Given the description of an element on the screen output the (x, y) to click on. 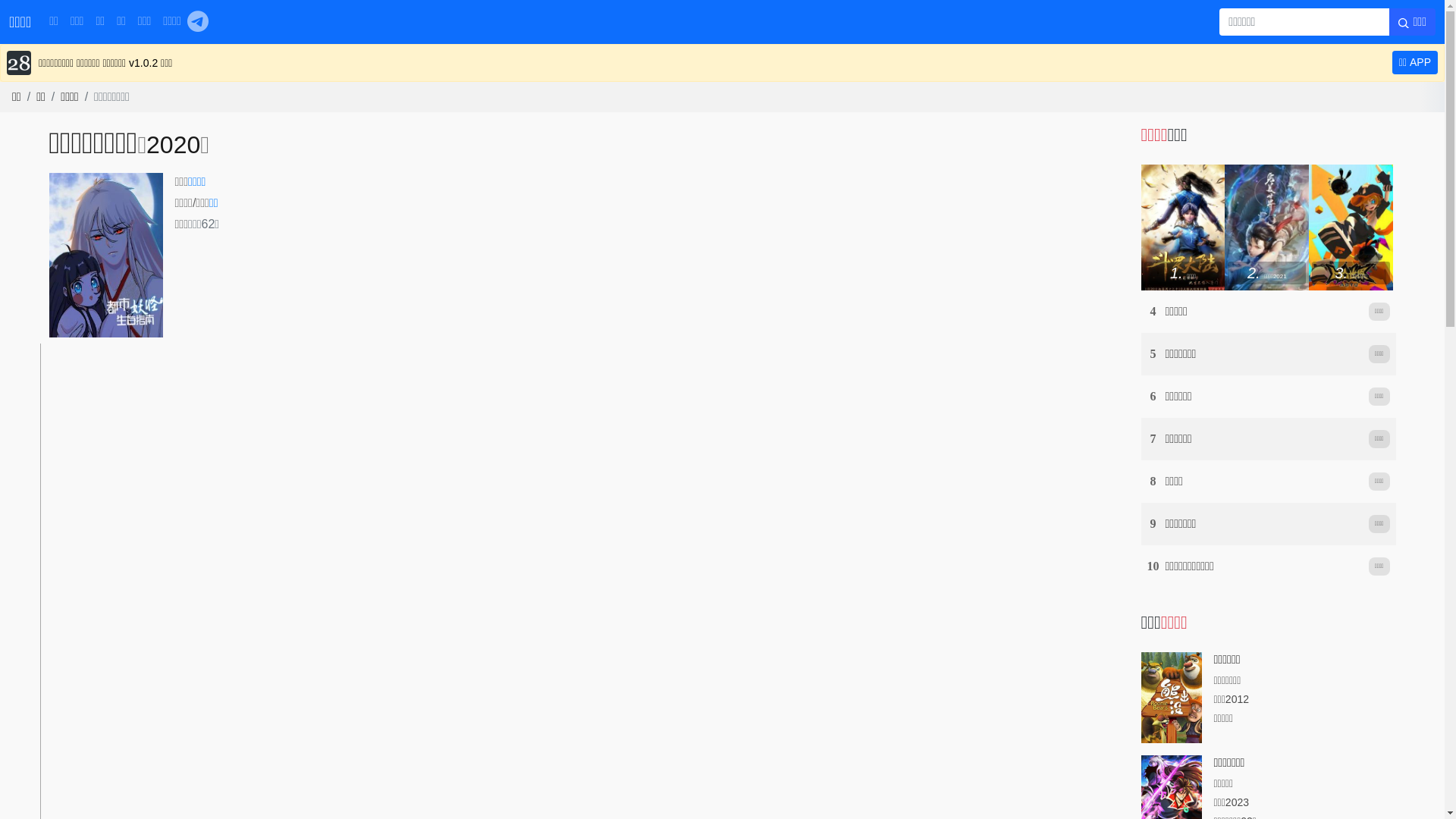
2020 Element type: text (173, 144)
